Given the description of an element on the screen output the (x, y) to click on. 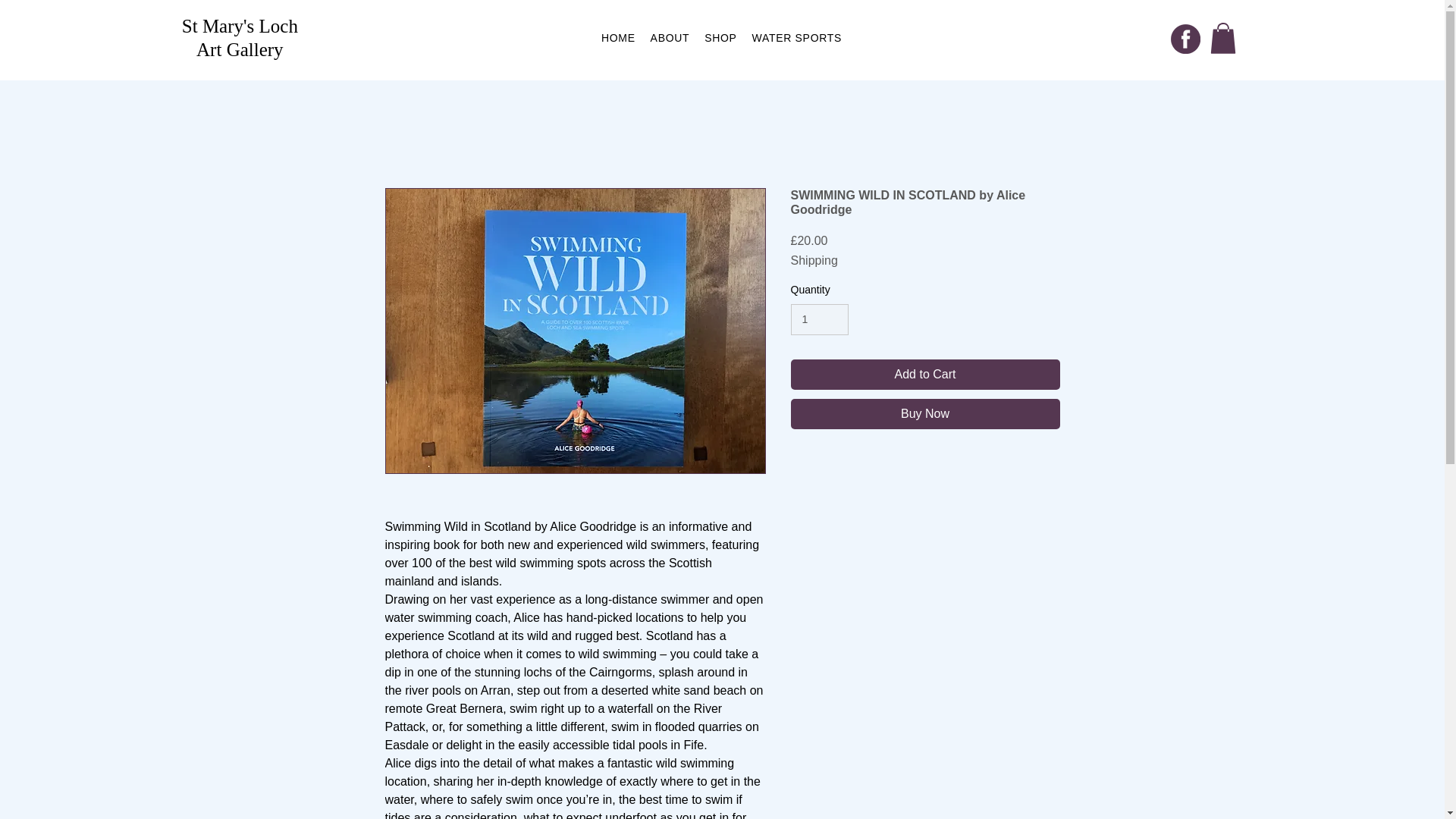
Add to Cart (924, 374)
ABOUT (670, 37)
Shipping (813, 260)
Buy Now (924, 413)
1 (818, 318)
WATER SPORTS (796, 37)
SHOP (720, 37)
HOME (618, 37)
